Given the description of an element on the screen output the (x, y) to click on. 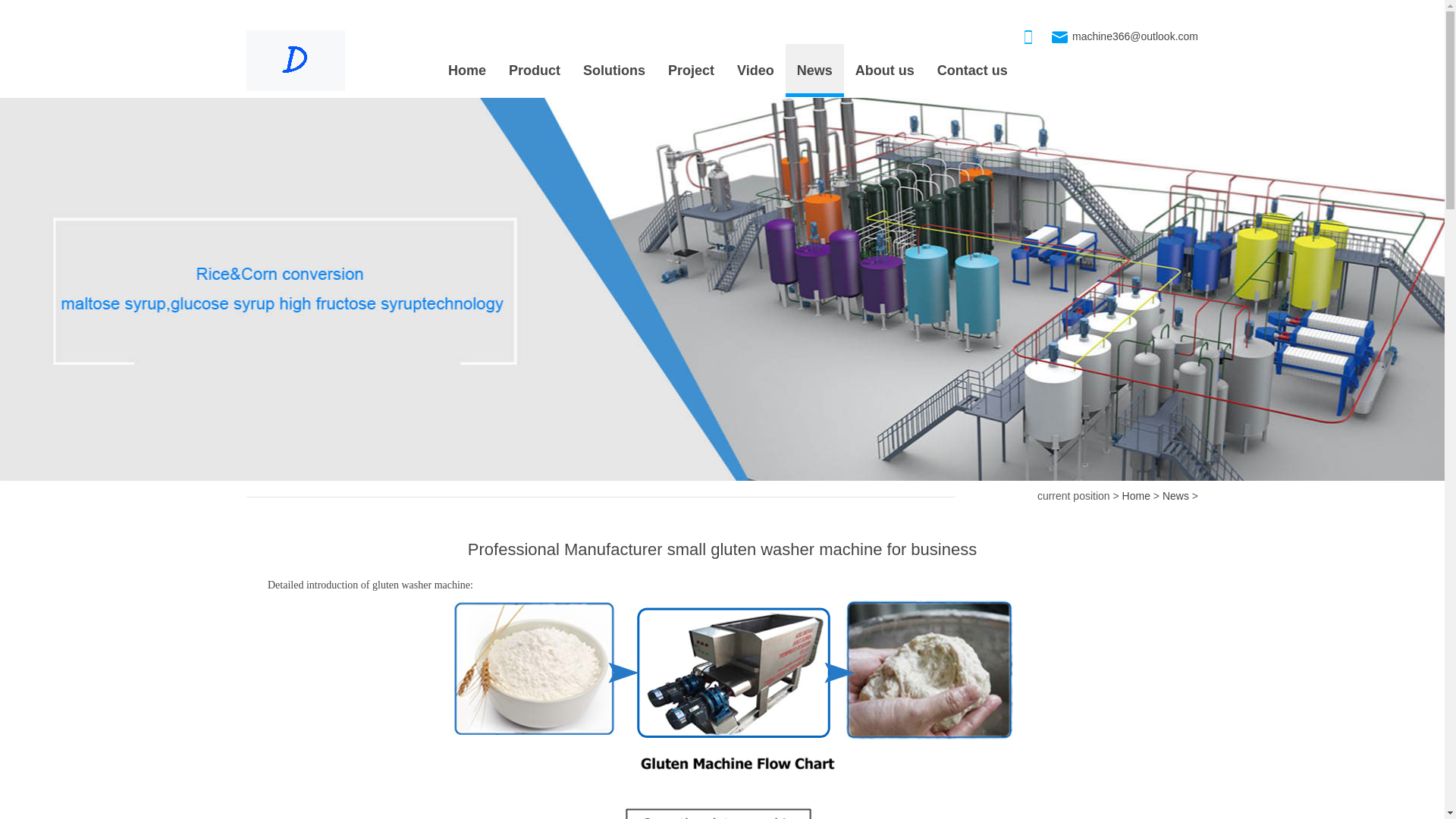
News (1175, 495)
About us (885, 70)
Product (534, 70)
Solutions (614, 70)
Contact us (972, 70)
Home (1136, 495)
